Given the description of an element on the screen output the (x, y) to click on. 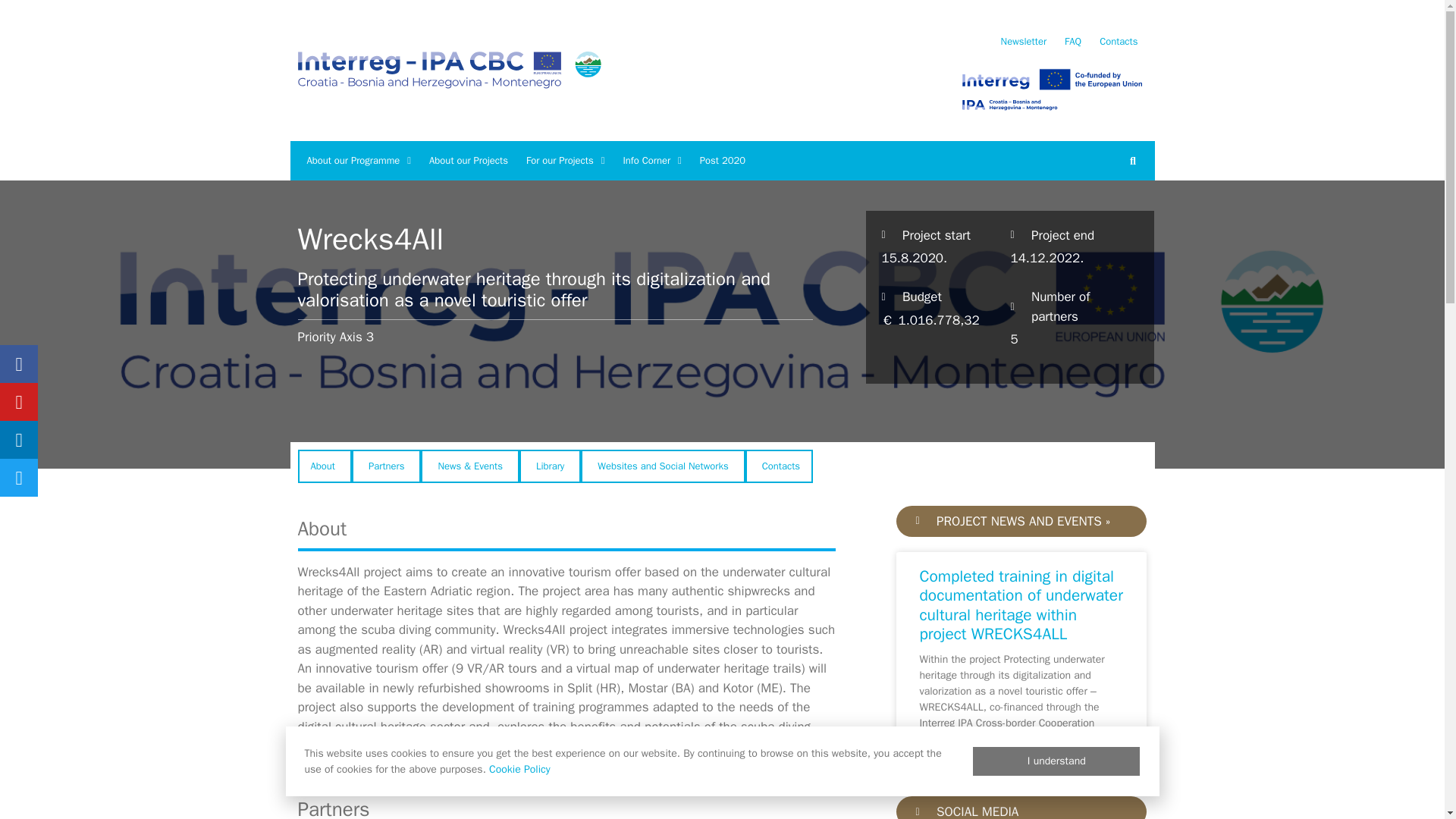
About our Programme (358, 160)
Newsletter (1023, 41)
Post 2020 (722, 160)
FAQ (1072, 41)
Contacts (1118, 41)
Info Corner (651, 160)
For our Projects (565, 160)
About our Projects (468, 160)
